Given the description of an element on the screen output the (x, y) to click on. 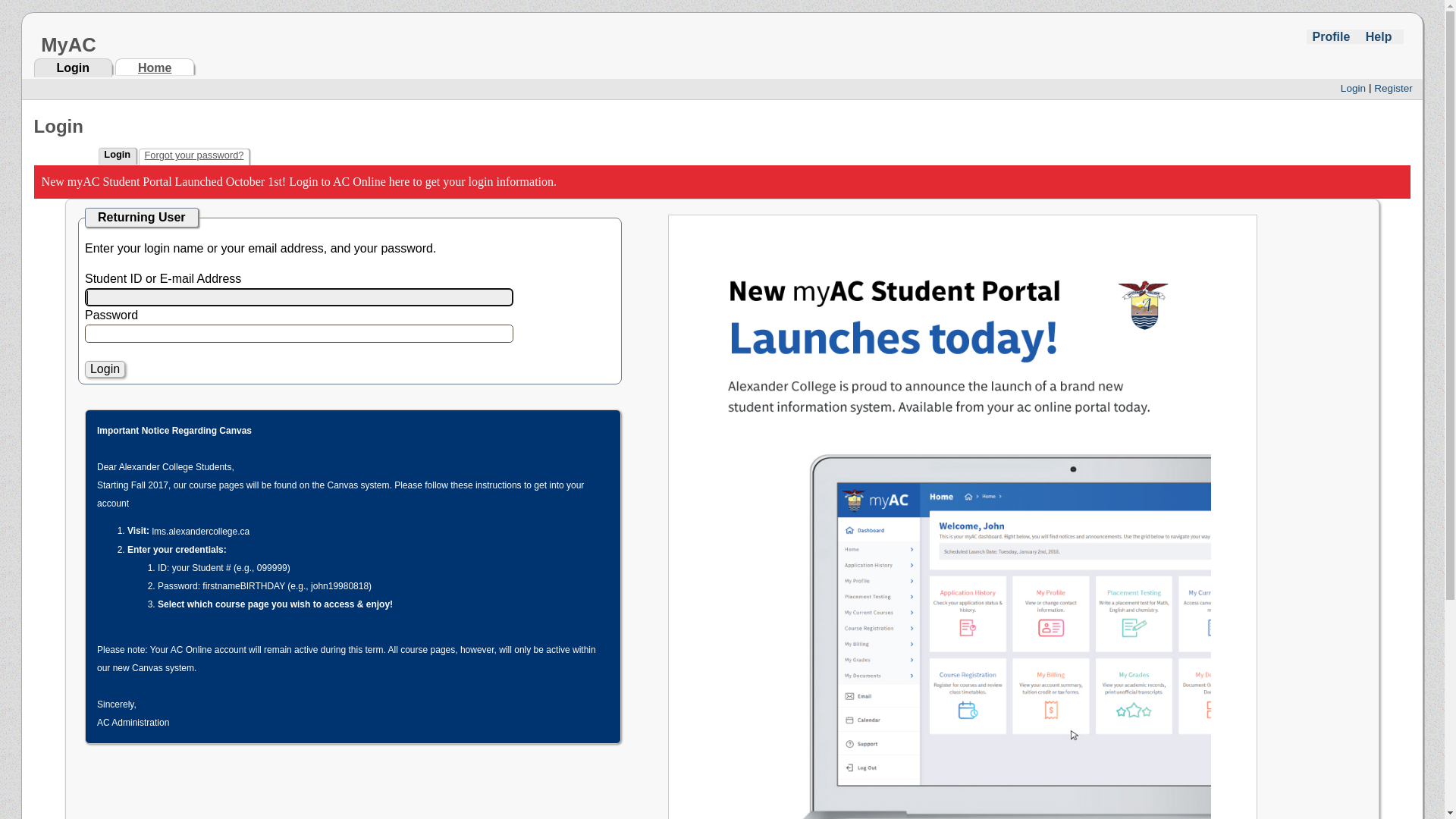
Profile Element type: text (1330, 36)
Login Element type: text (104, 368)
Forgot your password? Element type: text (194, 154)
Register Element type: text (1393, 88)
Login Element type: text (1352, 88)
Help Element type: text (1378, 36)
lms.alexandercollege.ca Element type: text (200, 531)
Login Element type: text (73, 67)
Home Element type: text (154, 66)
